Given the description of an element on the screen output the (x, y) to click on. 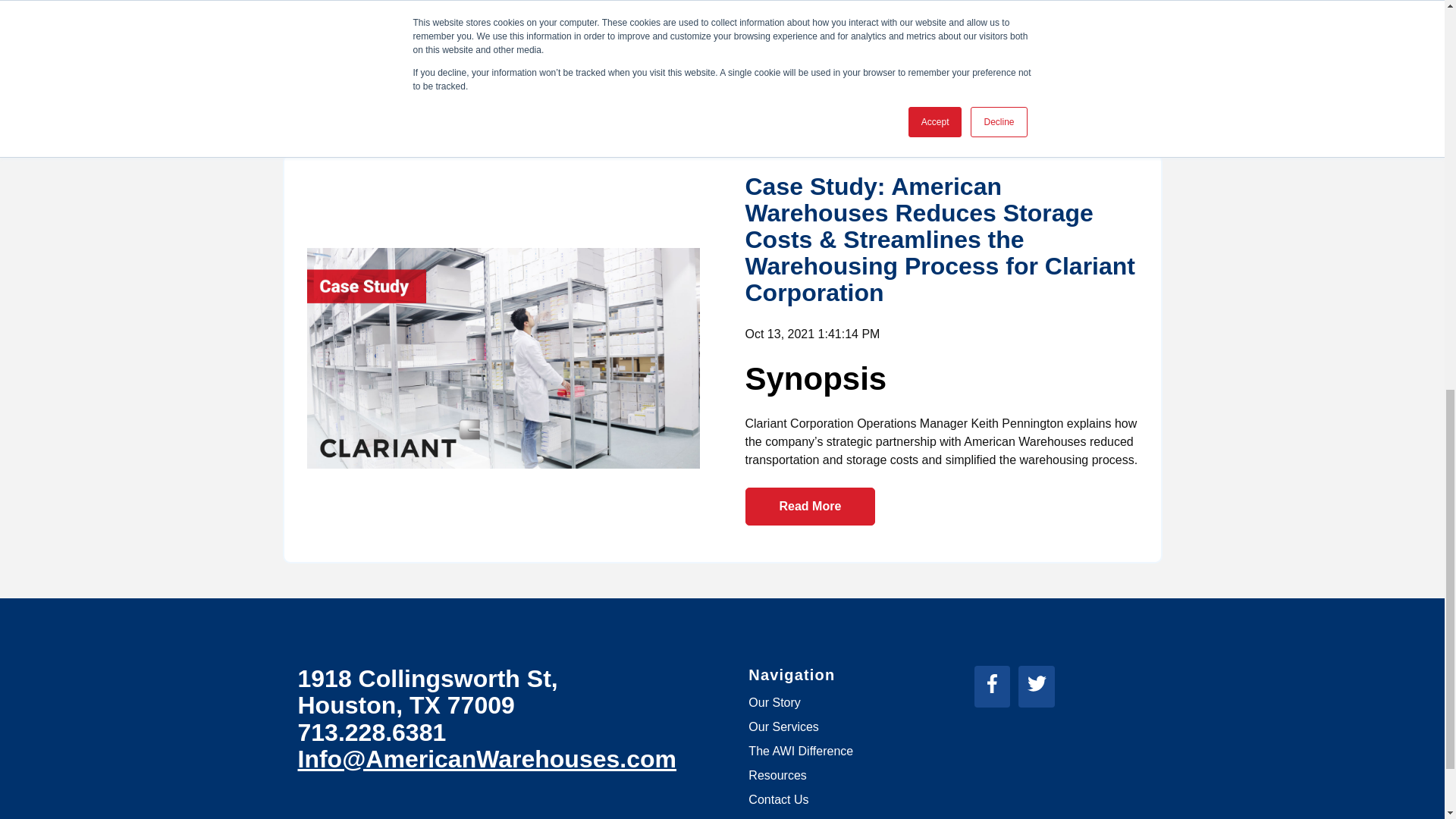
Follow us on Facebook (996, 688)
Read More (809, 506)
The AWI Difference (800, 750)
Our Services (783, 726)
Follow us on Twitter (1036, 683)
Contact Us (778, 799)
Our Story (773, 702)
Resources (777, 775)
Read More (809, 62)
Follow us on Facebook (991, 683)
Follow us on Twitter (1039, 688)
